Given the description of an element on the screen output the (x, y) to click on. 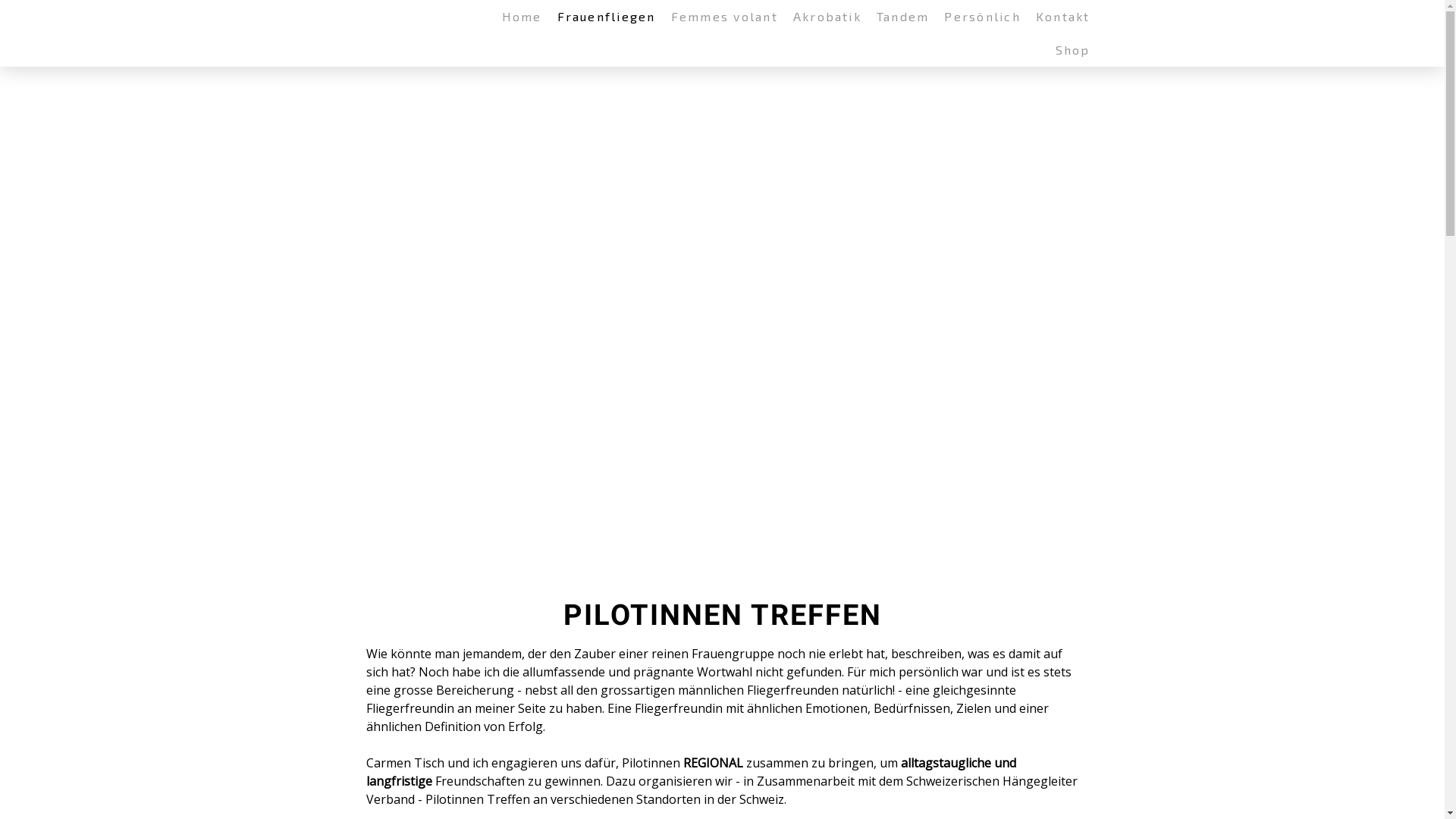
Akrobatik Element type: text (827, 16)
Home Element type: text (521, 16)
Frauenfliegen Element type: text (606, 16)
Femmes volant Element type: text (724, 16)
Kontakt Element type: text (1063, 16)
Tandem Element type: text (902, 16)
Shop Element type: text (1073, 49)
